Given the description of an element on the screen output the (x, y) to click on. 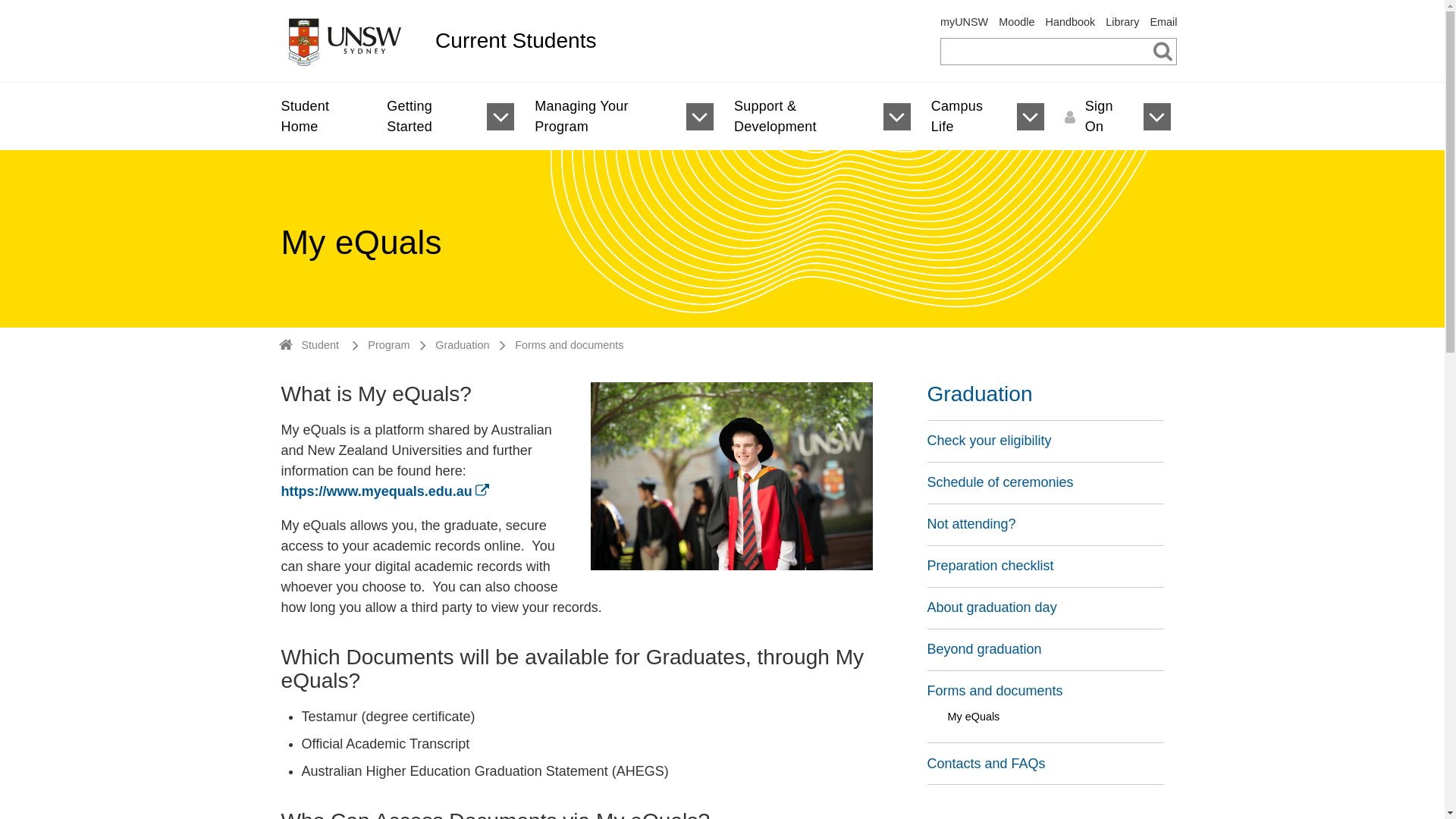
Search (1163, 50)
Managing Your Program (600, 116)
Current Students (673, 40)
Getting Started (426, 116)
myUNSW (964, 21)
Library (1121, 21)
Moodle (1015, 21)
Search (1163, 50)
Enter the terms you wish to search for. (1058, 51)
Student Home (319, 116)
